Given the description of an element on the screen output the (x, y) to click on. 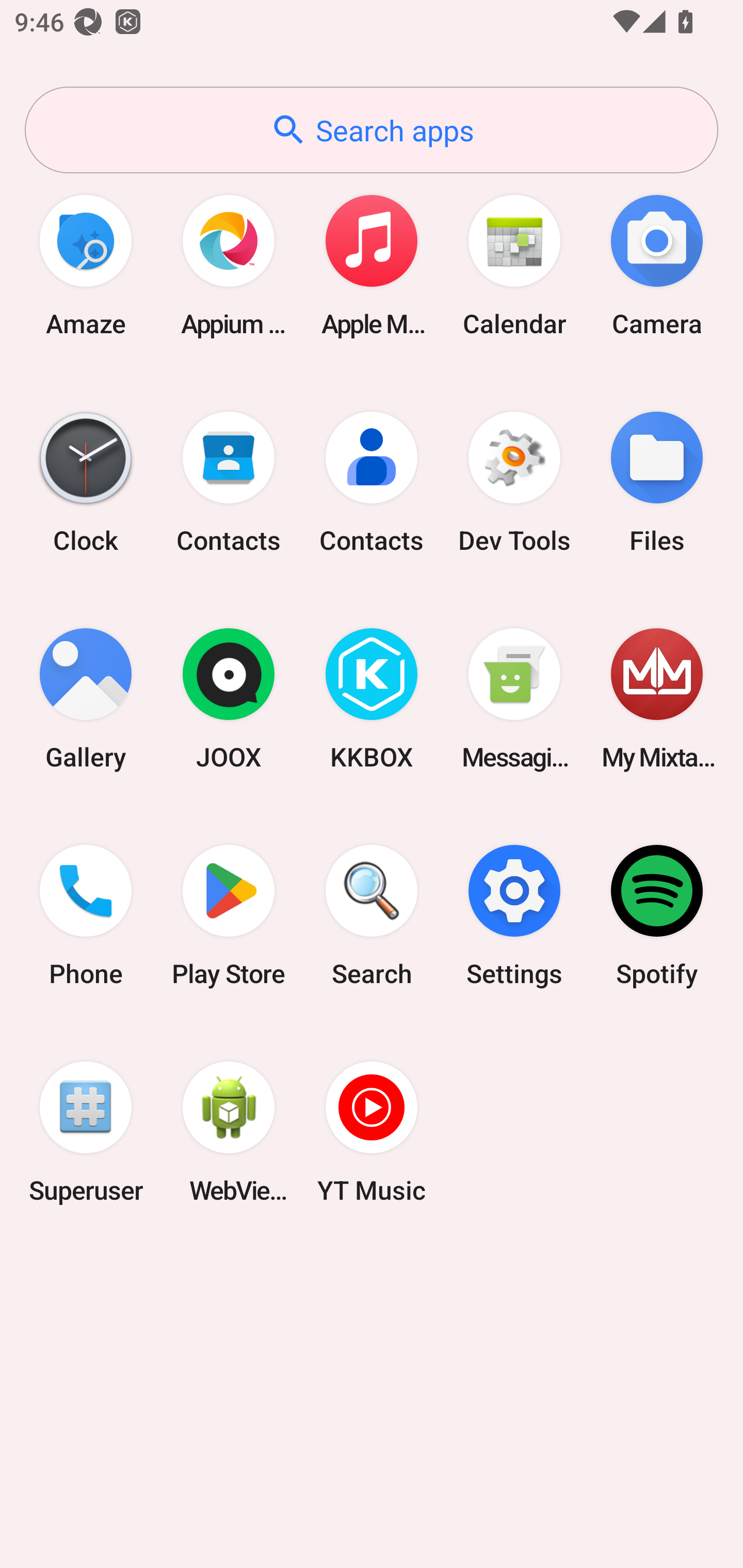
  Search apps (371, 130)
Amaze (85, 264)
Appium Settings (228, 264)
Apple Music (371, 264)
Calendar (514, 264)
Camera (656, 264)
Clock (85, 482)
Contacts (228, 482)
Contacts (371, 482)
Dev Tools (514, 482)
Files (656, 482)
Gallery (85, 699)
JOOX (228, 699)
KKBOX (371, 699)
Messaging (514, 699)
My Mixtapez (656, 699)
Phone (85, 915)
Play Store (228, 915)
Search (371, 915)
Settings (514, 915)
Spotify (656, 915)
Superuser (85, 1131)
WebView Browser Tester (228, 1131)
YT Music (371, 1131)
